Given the description of an element on the screen output the (x, y) to click on. 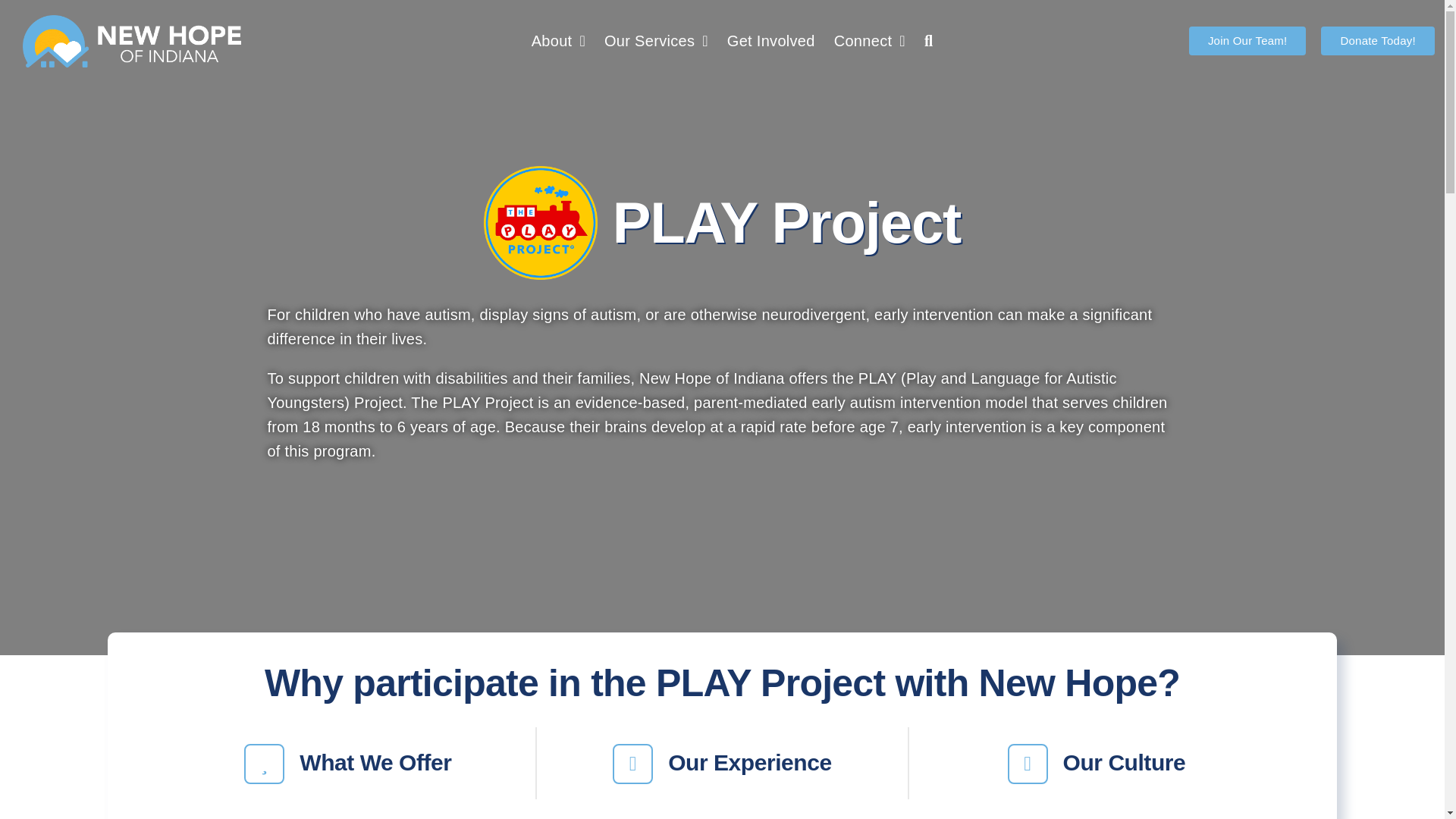
About (558, 40)
Our Services (655, 40)
Play Project Badge 512x (539, 222)
Get Involved (770, 40)
Connect (868, 40)
